Given the description of an element on the screen output the (x, y) to click on. 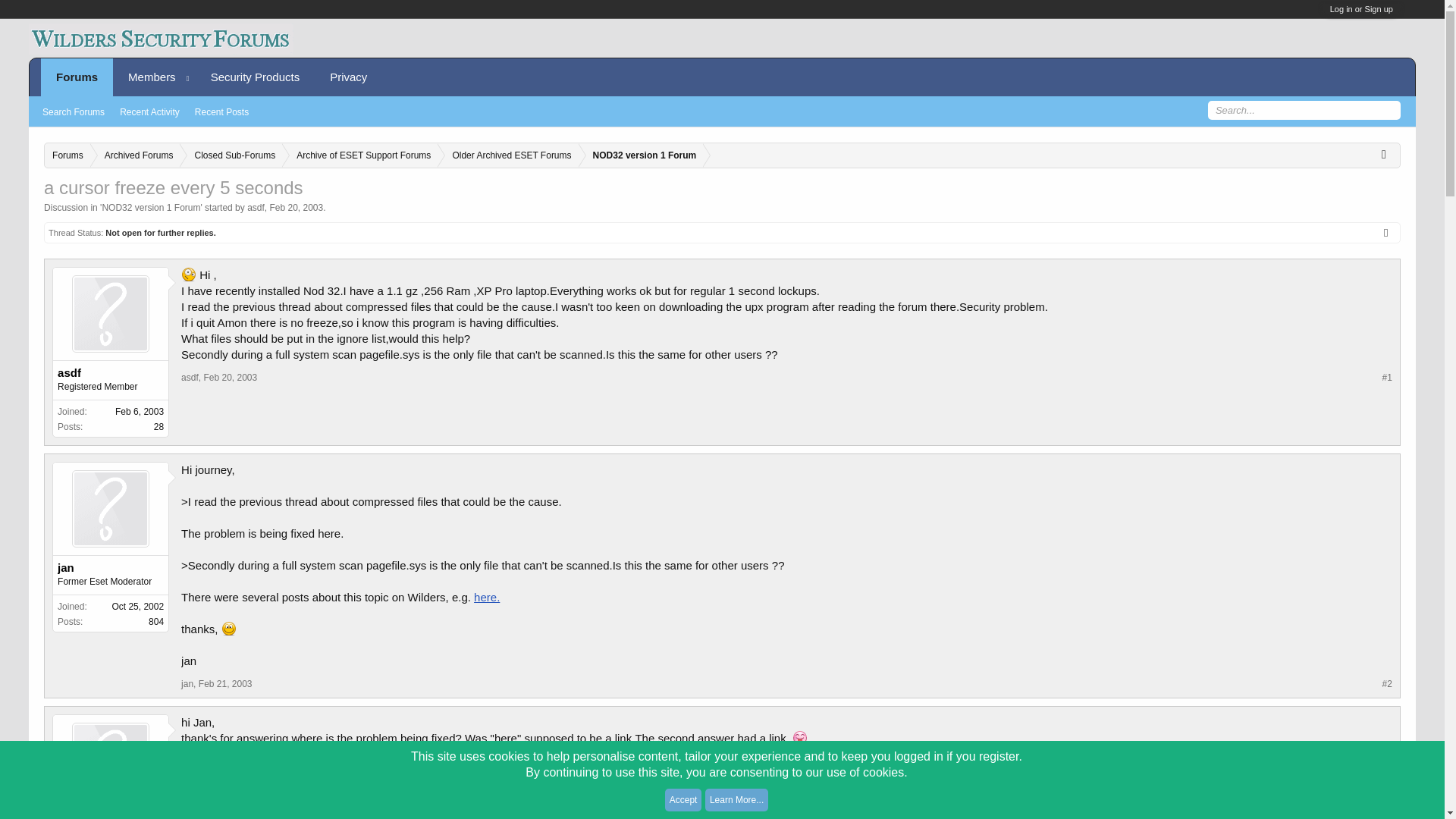
jan (186, 683)
28 (158, 426)
asdf (189, 805)
asdf (110, 816)
804 (155, 621)
Closed Sub-Forums (231, 155)
Feb 20, 2003 (296, 207)
Archive of ESET Support Forums (360, 155)
Permalink (230, 377)
Feb 20, 2003 (230, 377)
